Given the description of an element on the screen output the (x, y) to click on. 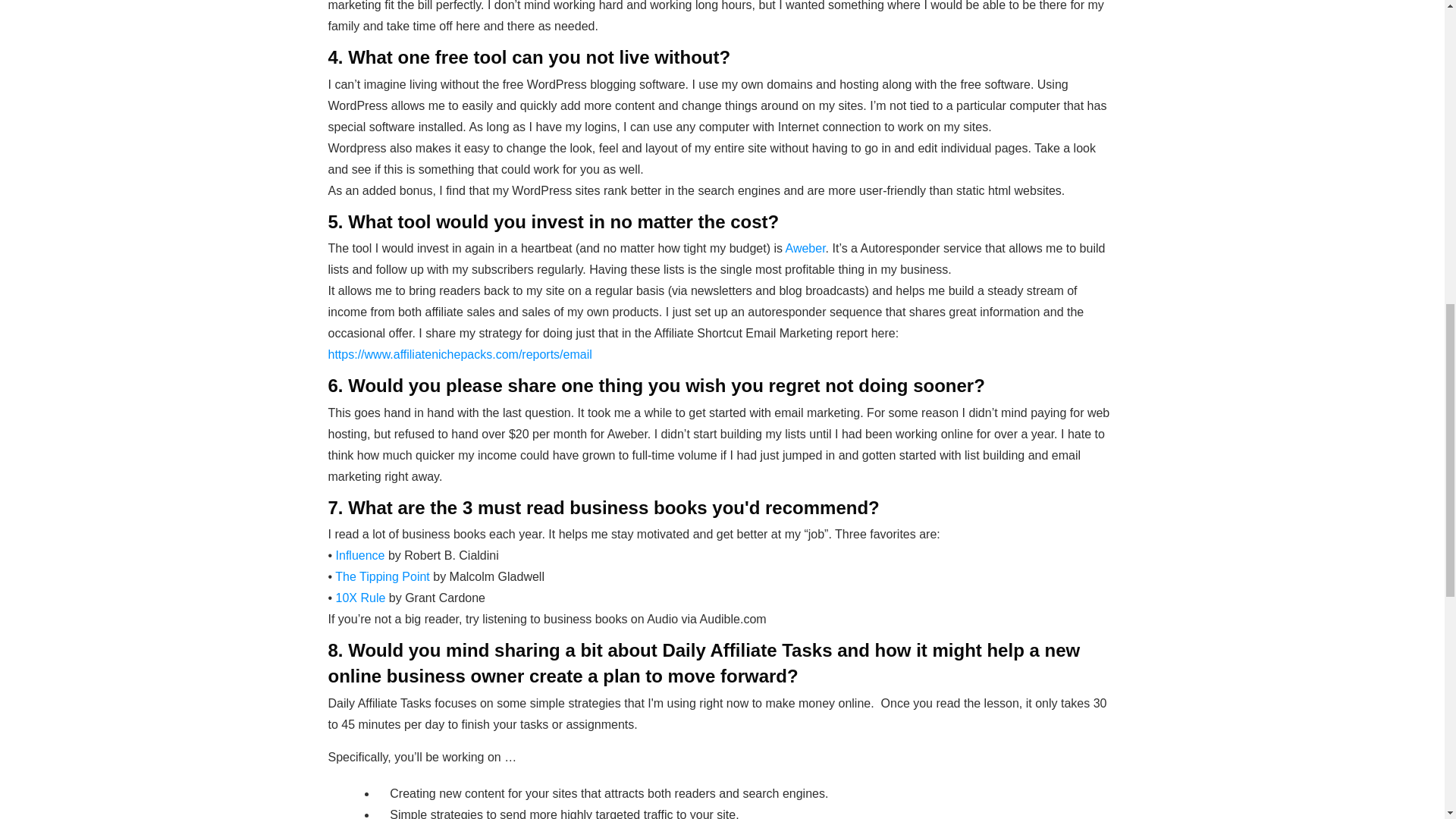
Influence (360, 554)
Aweber (805, 247)
10X Rule (360, 597)
The Tipping Point (381, 576)
